Given the description of an element on the screen output the (x, y) to click on. 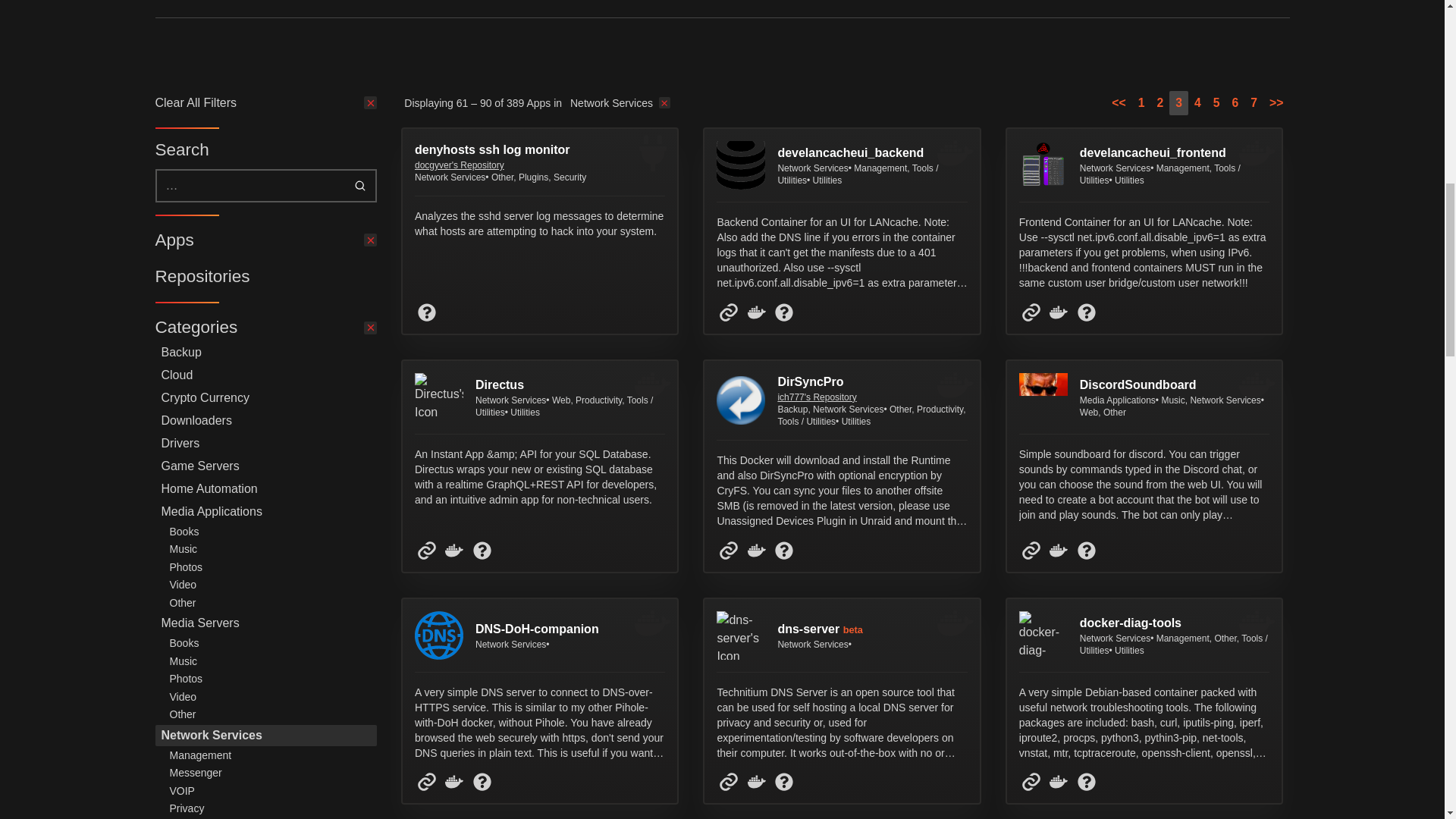
Filter results by category Media Applications (265, 511)
Filter results by category Drivers (265, 443)
Filter results by category Backup (265, 352)
Filter results by category Cloud (265, 374)
Filter results by category Downloaders (265, 420)
Filter results by category Crypto Currency (265, 397)
Clear apps filter to search repositories (265, 240)
Filter results by category Game Servers (265, 465)
Filter results by category Music (270, 548)
Filter results by category Home Automation (265, 488)
Clear category filter only (265, 327)
Clear All Filters (265, 102)
Filter results by category Photos (270, 566)
Filter by repositories (265, 276)
Filter results by category Books (270, 531)
